Given the description of an element on the screen output the (x, y) to click on. 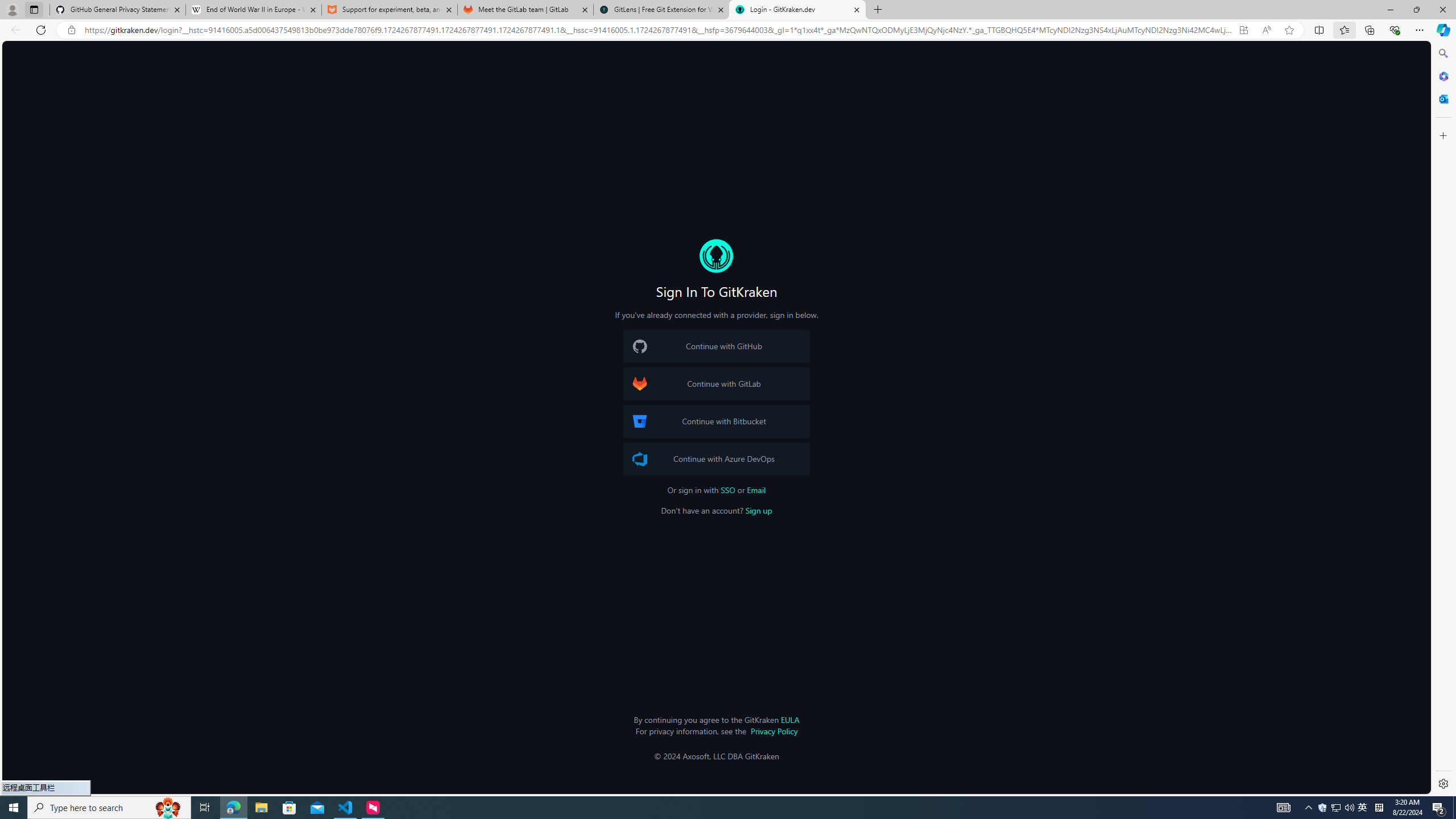
GitHub Logo (639, 346)
GitLab Logo (639, 383)
Bitbucket Logo Continue with Bitbucket (716, 421)
End of World War II in Europe - Wikipedia (253, 9)
Azure DevOps Logo Continue with Azure DevOps (716, 458)
Azure DevOps Logo (639, 458)
